Given the description of an element on the screen output the (x, y) to click on. 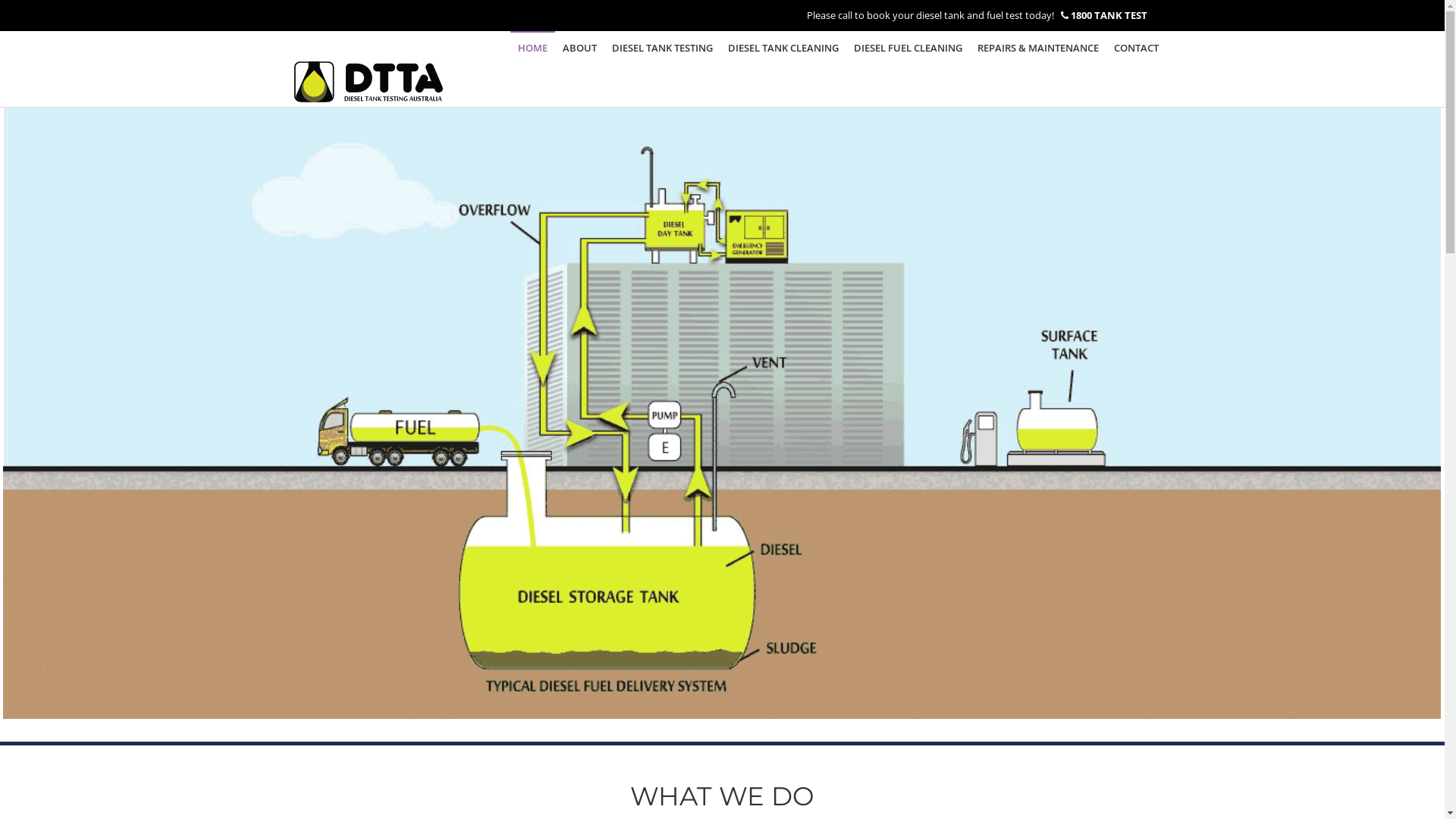
ABOUT Element type: text (579, 47)
DIESEL TANK TESTING Element type: text (661, 47)
REPAIRS & MAINTENANCE Element type: text (1037, 47)
1800 TANK TEST Element type: text (1108, 14)
DIESEL TANK CLEANING Element type: text (783, 47)
CONTACT Element type: text (1135, 47)
DIESEL FUEL CLEANING Element type: text (907, 47)
Diesel Tank Testing Australia Element type: hover (368, 68)
HOME Element type: text (531, 47)
